Given the description of an element on the screen output the (x, y) to click on. 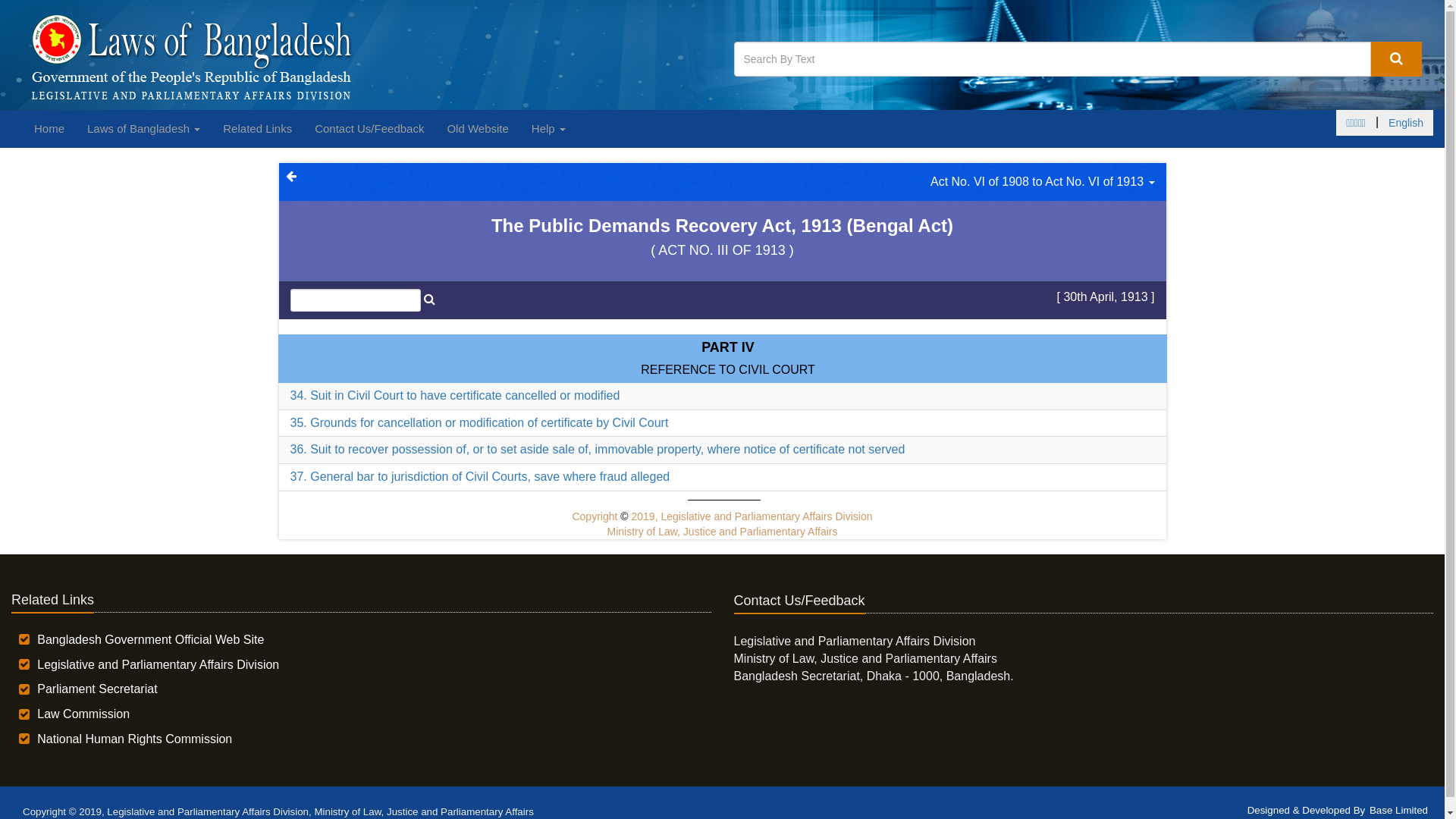
Related Links Element type: text (257, 128)
Parliament Secretariat Element type: text (96, 688)
Old Website Element type: text (477, 128)
Law Commission Element type: text (83, 713)
REFERENCE TO CIVIL COURT Element type: text (727, 369)
National Human Rights Commission Element type: text (134, 738)
PART IV Element type: text (727, 346)
Contact Us/Feedback Element type: text (369, 128)
English Element type: text (1405, 122)
Laws of Bangladesh Element type: text (143, 128)
Act No. VI of 1908 to Act No. VI of 1913 Element type: text (1042, 181)
Legislative and Parliamentary Affairs Division Element type: text (158, 664)
Base Limited Element type: text (1398, 809)
Home Element type: text (48, 128)
Bangladesh Government Official Web Site Element type: text (150, 639)
Back Element type: hover (290, 175)
Help Element type: text (548, 128)
